Given the description of an element on the screen output the (x, y) to click on. 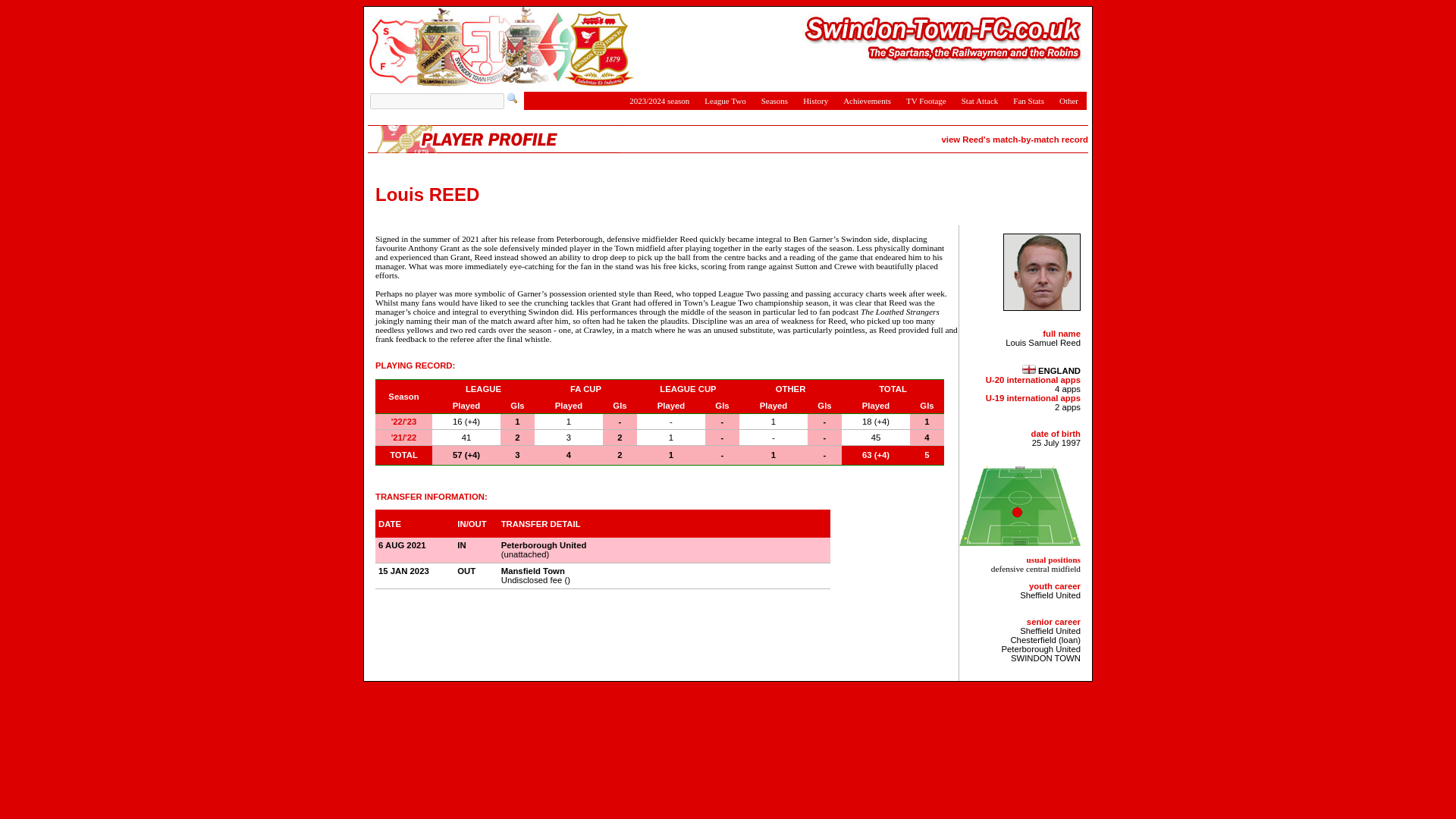
League Two (724, 100)
History (814, 100)
Seasons (774, 100)
